Given the description of an element on the screen output the (x, y) to click on. 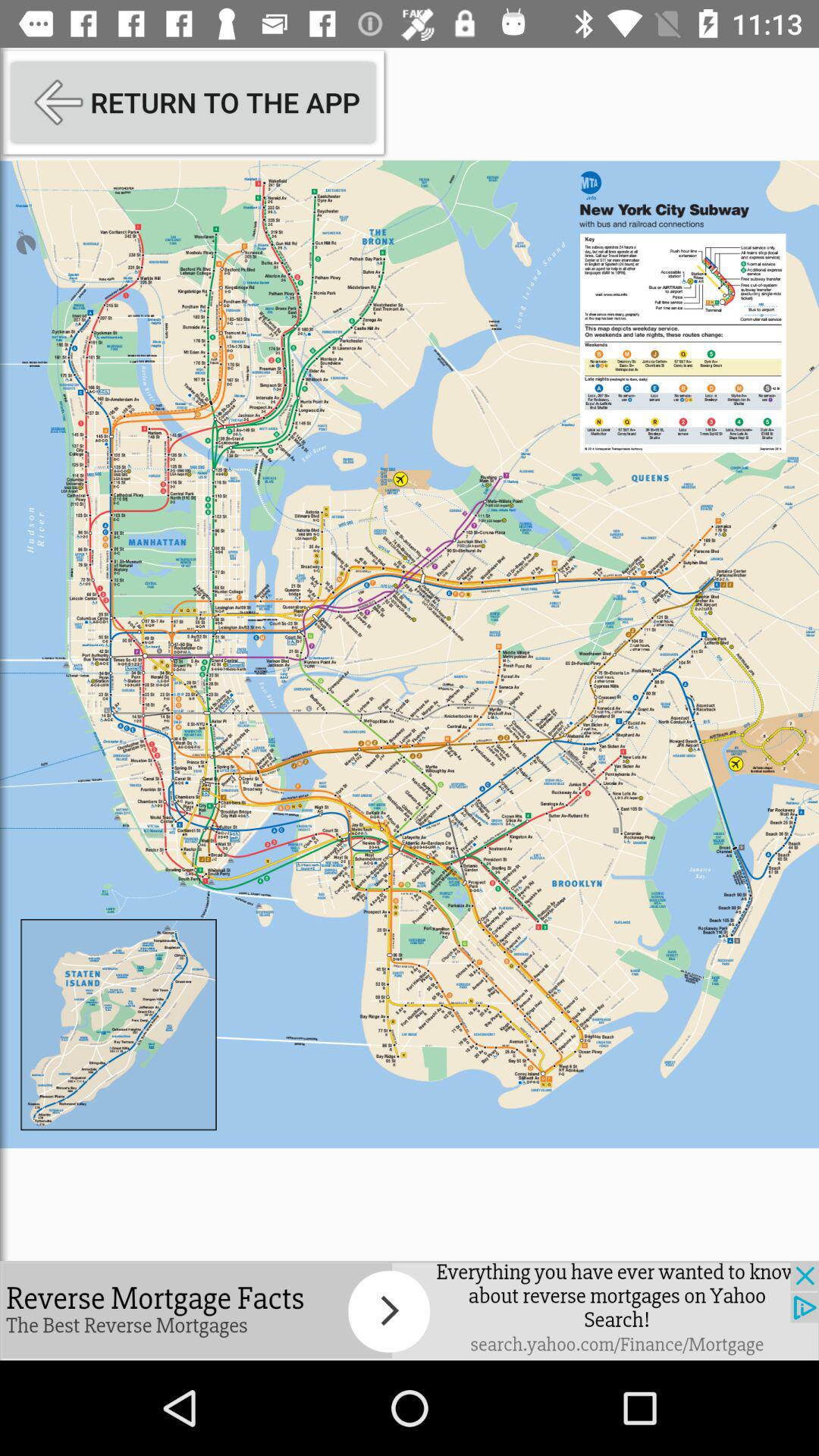
open webpage of displayed advertisement (409, 1310)
